Given the description of an element on the screen output the (x, y) to click on. 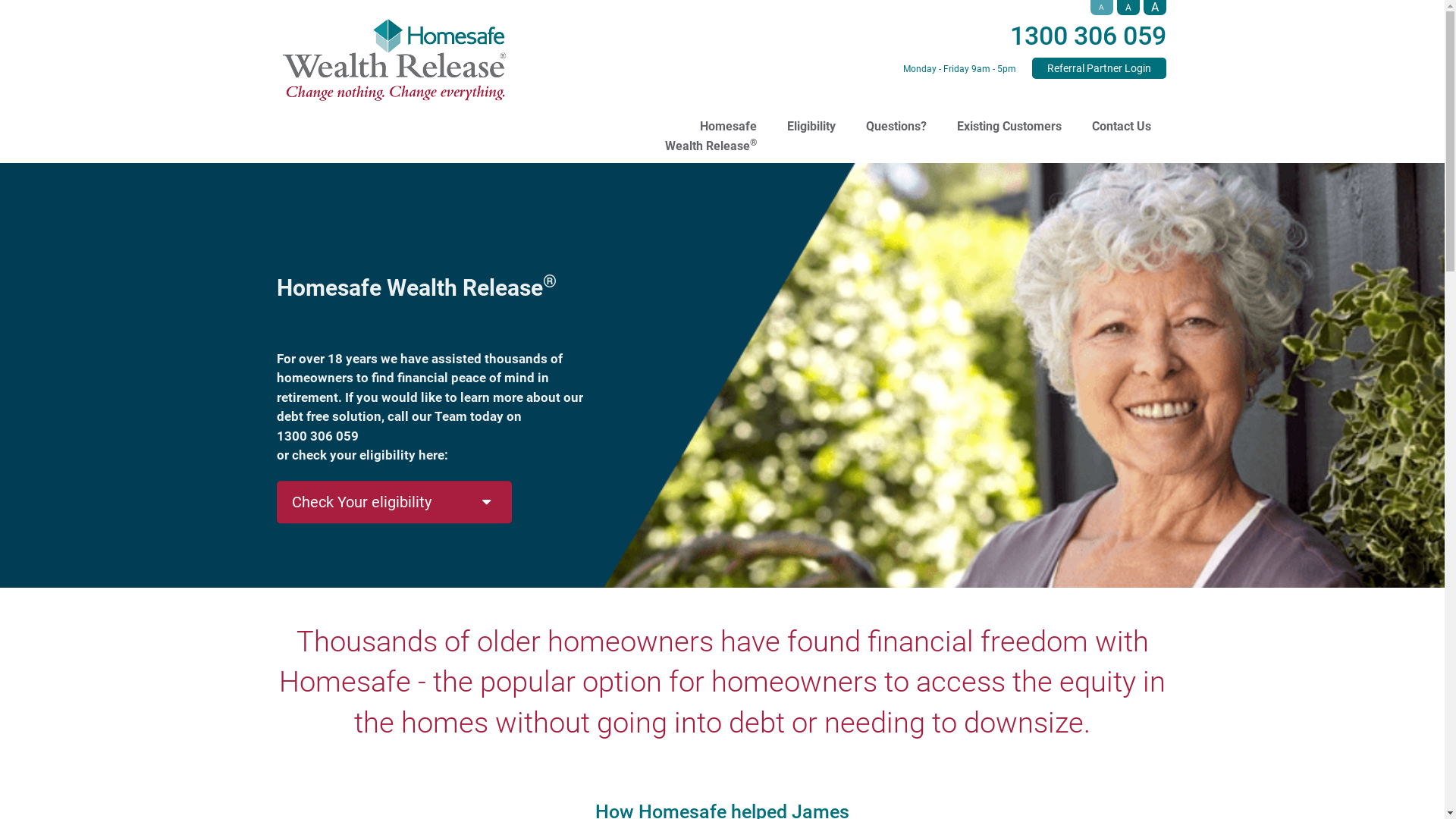
Contact Us Element type: text (1121, 115)
Existing Customers Element type: text (1008, 115)
A Element type: text (1101, 7)
Referral Partner Login Element type: text (1098, 67)
Questions? Element type: text (895, 115)
A Element type: text (1154, 7)
Eligibility Element type: text (810, 115)
1300 306 059 Element type: text (1088, 35)
A Element type: text (1127, 7)
